Given the description of an element on the screen output the (x, y) to click on. 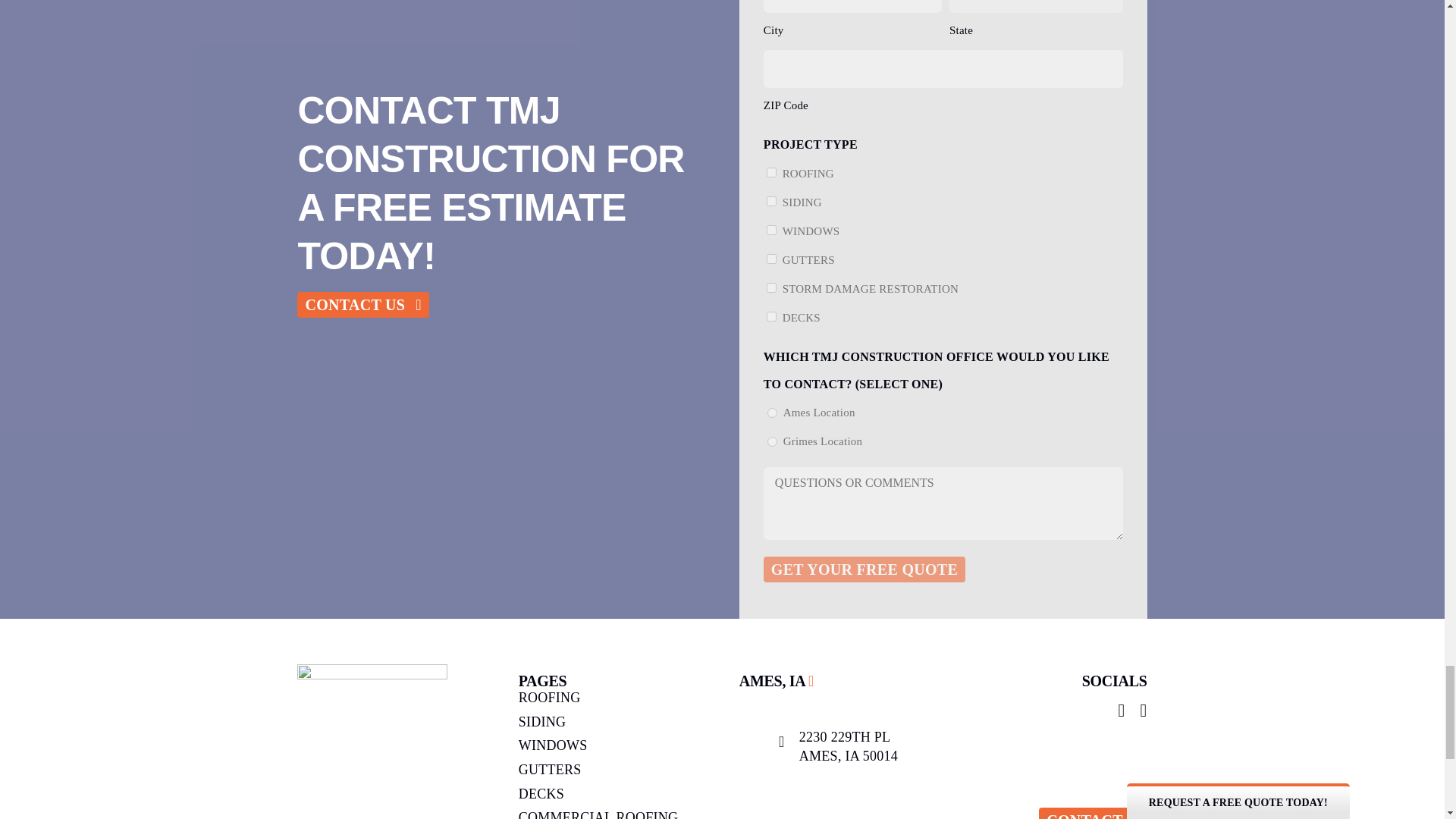
Ames Location (772, 412)
GUTTERS (771, 258)
SIDING (771, 201)
Grimes Location (772, 441)
WINDOWS (771, 230)
STORM DAMAGE RESTORATION (771, 287)
GET YOUR FREE QUOTE (863, 569)
ROOFING (771, 172)
DECKS (771, 316)
